Given the description of an element on the screen output the (x, y) to click on. 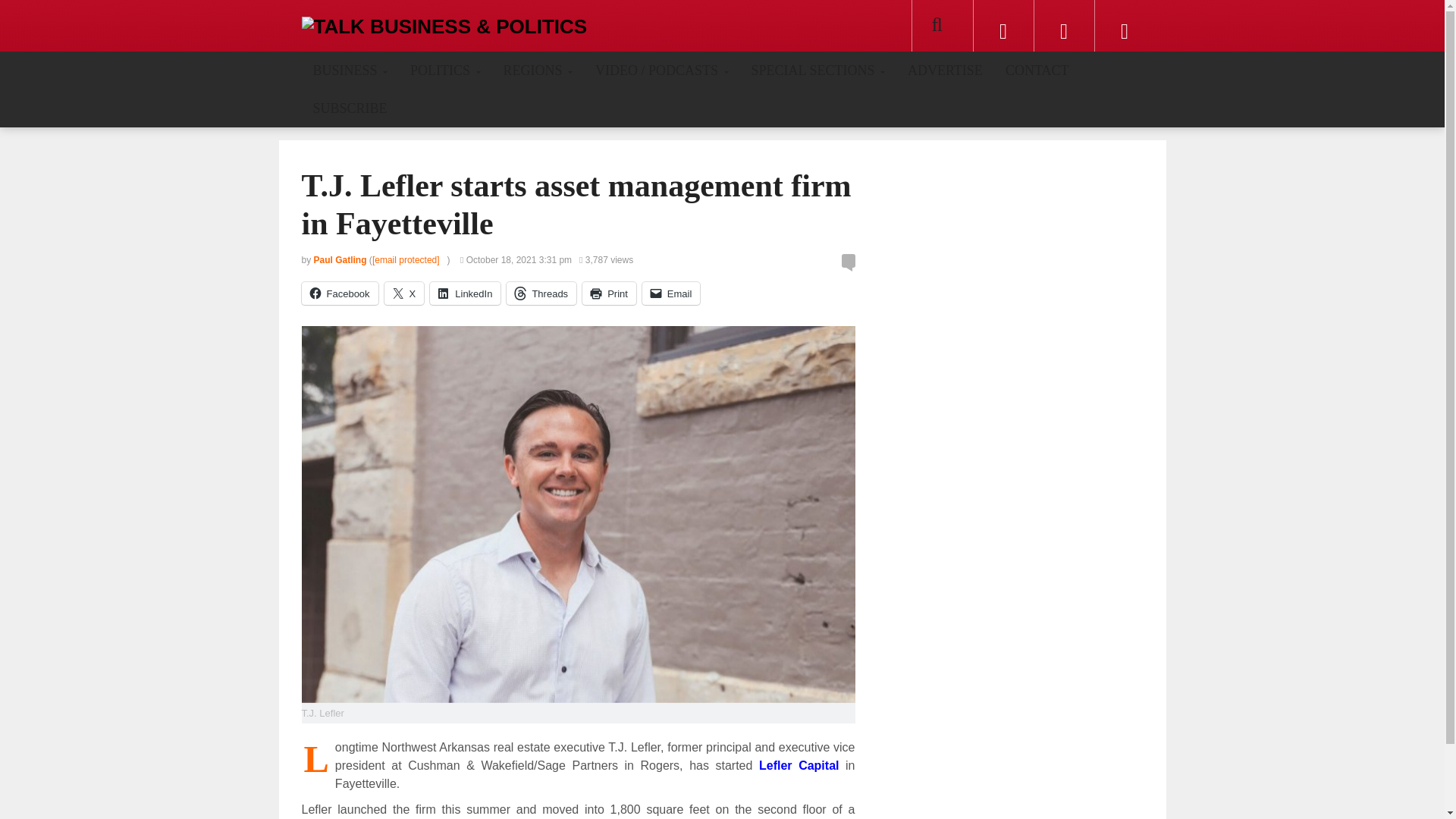
BUSINESS (349, 70)
POLITICS (445, 70)
Click to share on X (404, 292)
Click to share on LinkedIn (464, 292)
Click to email a link to a friend (671, 292)
Click to share on Facebook (339, 292)
Click to print (609, 292)
Click to share on Threads (541, 292)
